Given the description of an element on the screen output the (x, y) to click on. 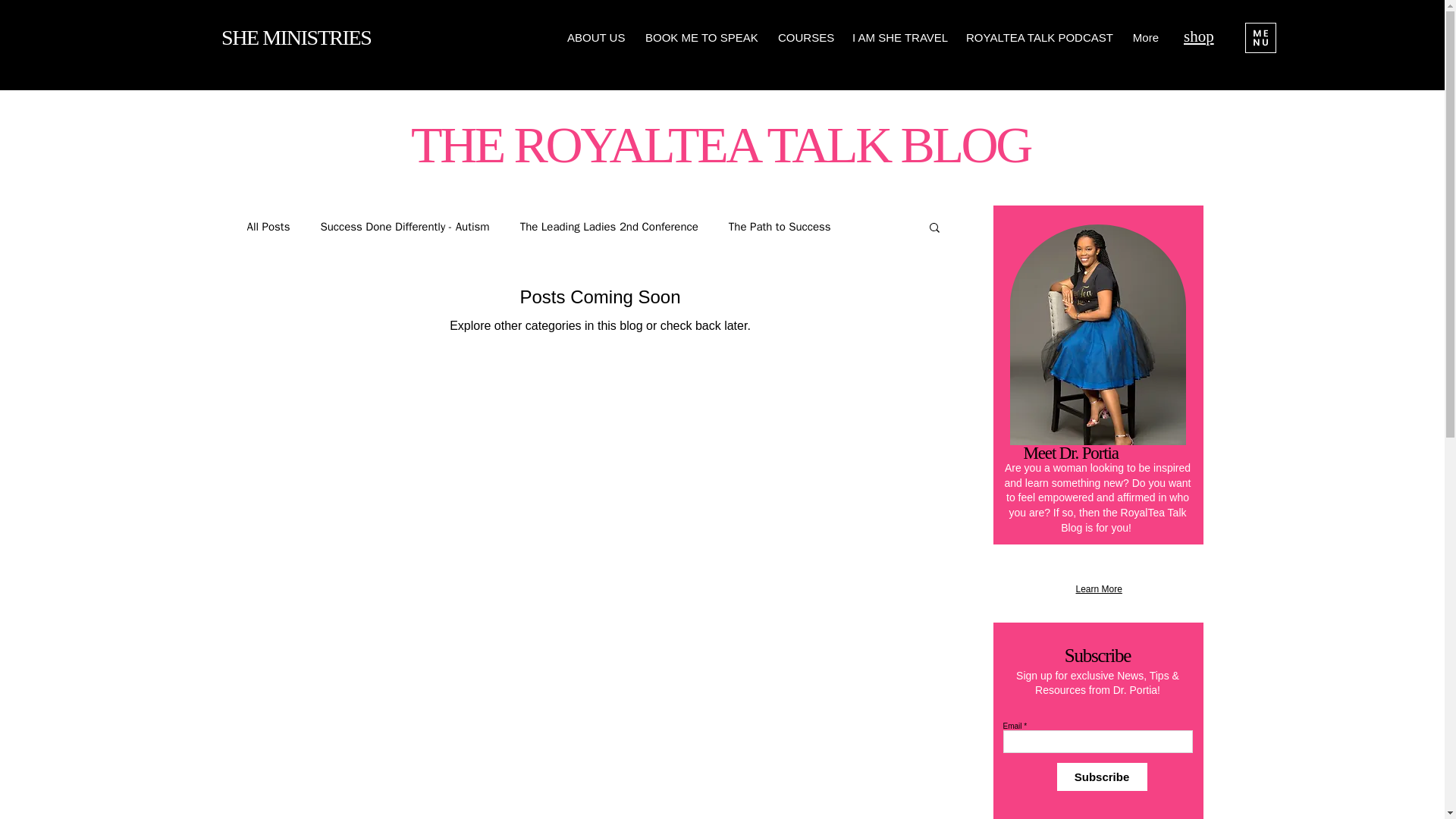
shop (1198, 36)
ABOUT US (594, 37)
Learn More (1098, 588)
The Leading Ladies 2nd Conference (608, 227)
SHE MINISTRIES (296, 37)
ROYALTEA TALK PODCAST (1038, 37)
The Path to Success (780, 227)
Subscribe (1102, 776)
BOOK ME TO SPEAK (700, 37)
I AM SHE TRAVEL (898, 37)
All Posts (268, 227)
Success Done Differently - Autism (404, 227)
